Given the description of an element on the screen output the (x, y) to click on. 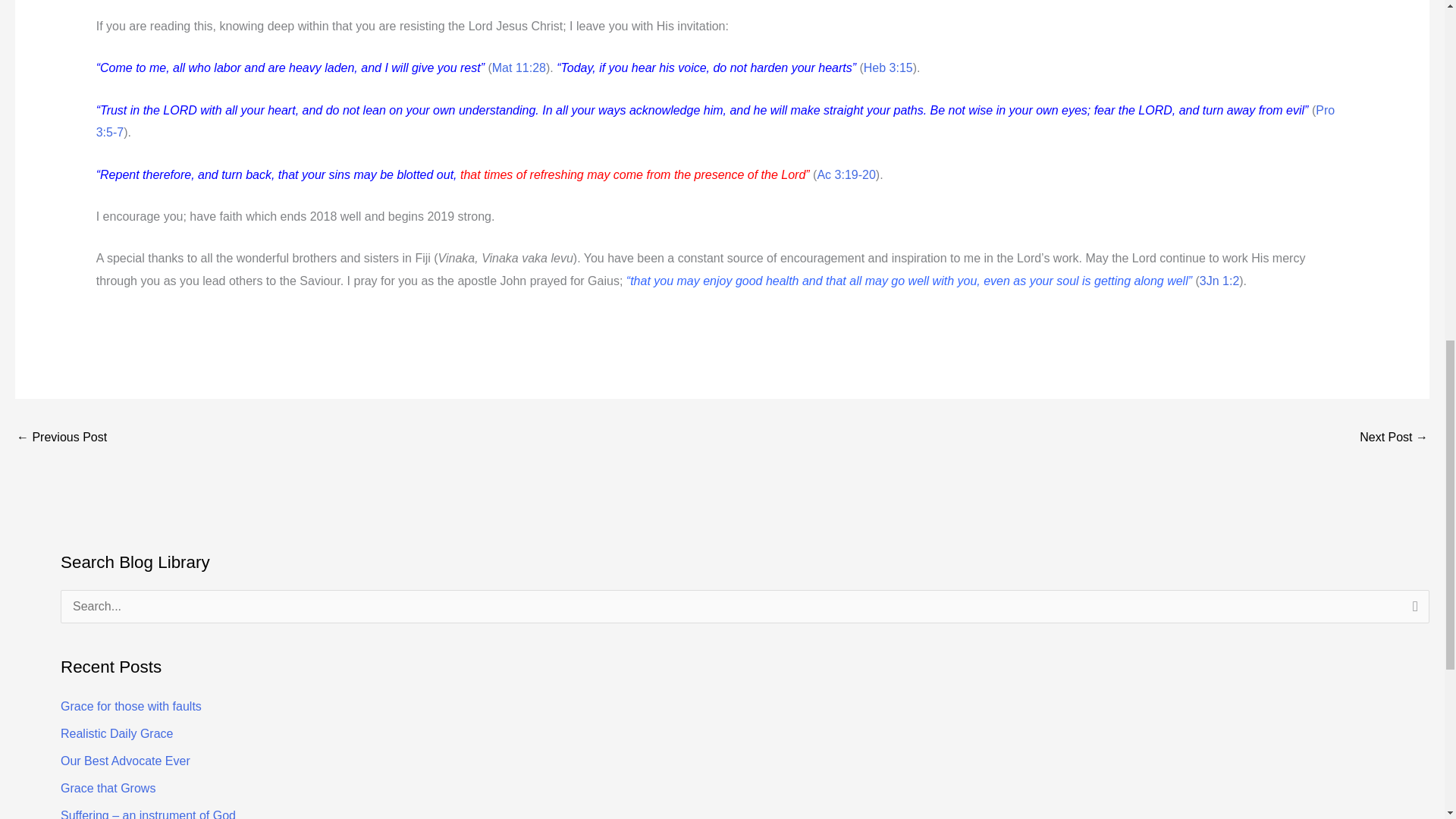
Search (1411, 610)
Reject rejection of Jesus Christ (61, 438)
Celebrate the Holy Spirit's work of belief (1393, 438)
Search (1411, 610)
